Given the description of an element on the screen output the (x, y) to click on. 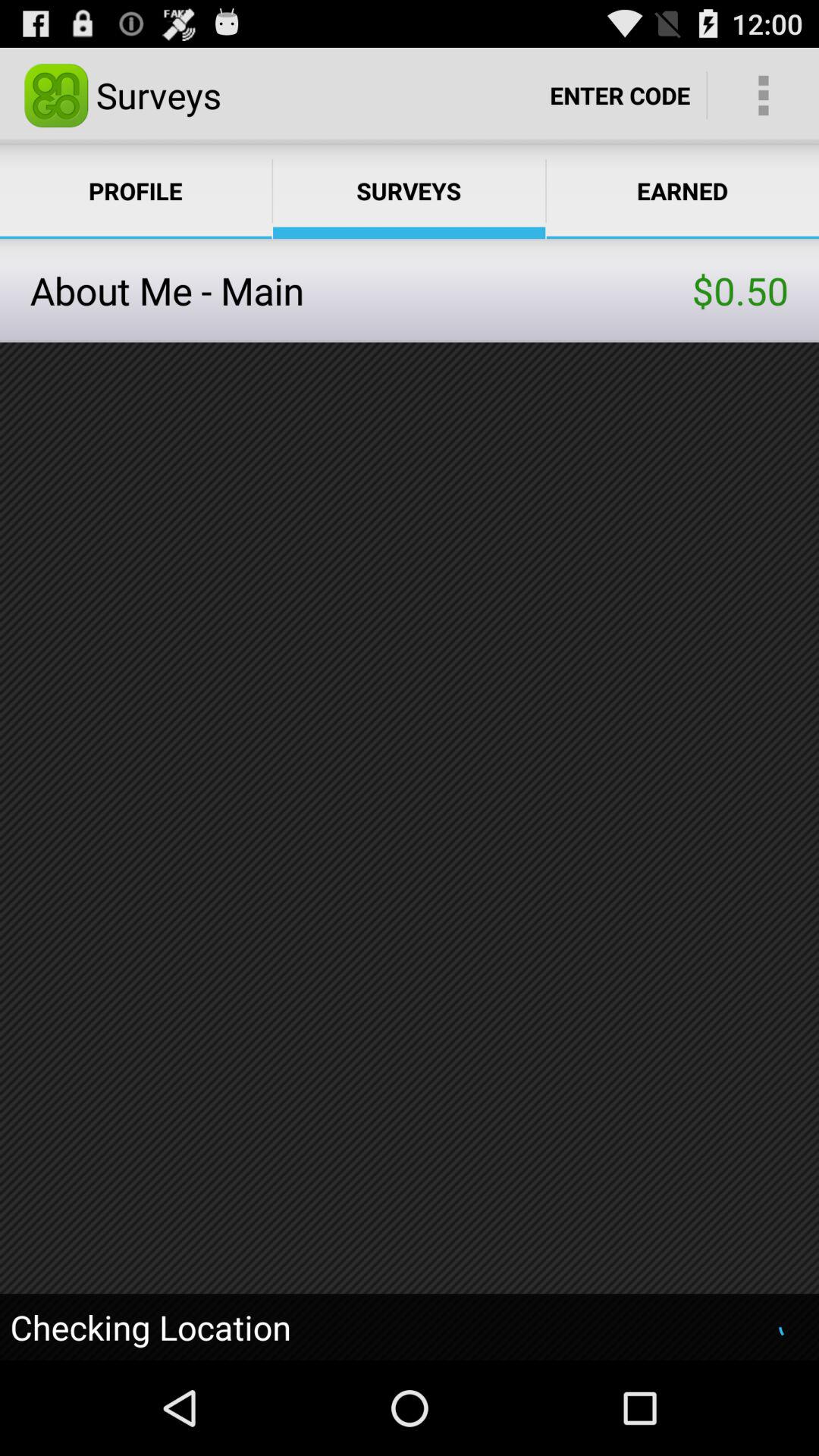
tap item next to the surveys app (620, 95)
